Given the description of an element on the screen output the (x, y) to click on. 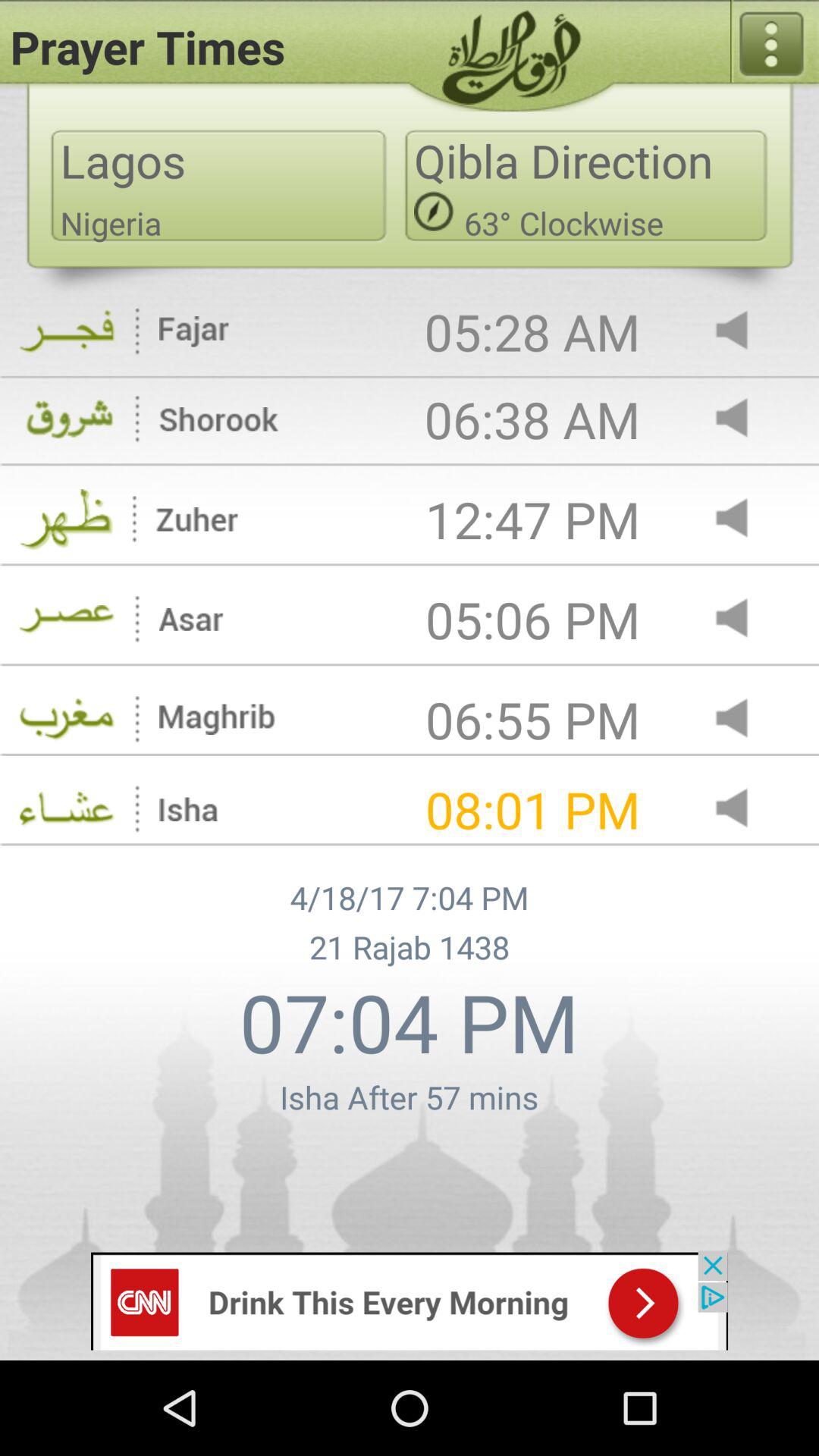
muslim prayer times muslim prayer times and kiblah direction app (744, 619)
